Given the description of an element on the screen output the (x, y) to click on. 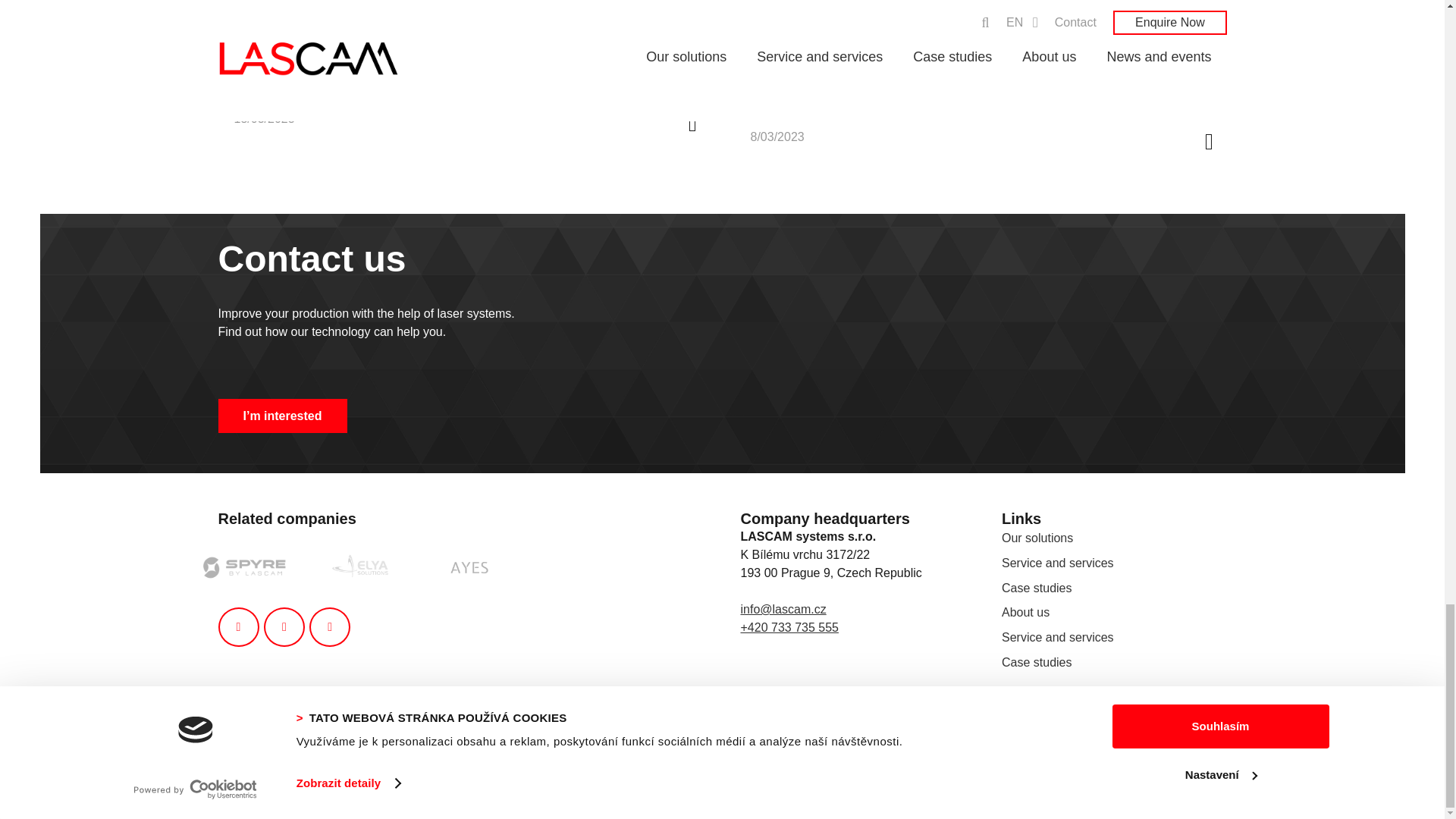
Facebook (238, 627)
YouTube (329, 627)
LinkedIn (283, 627)
